Given the description of an element on the screen output the (x, y) to click on. 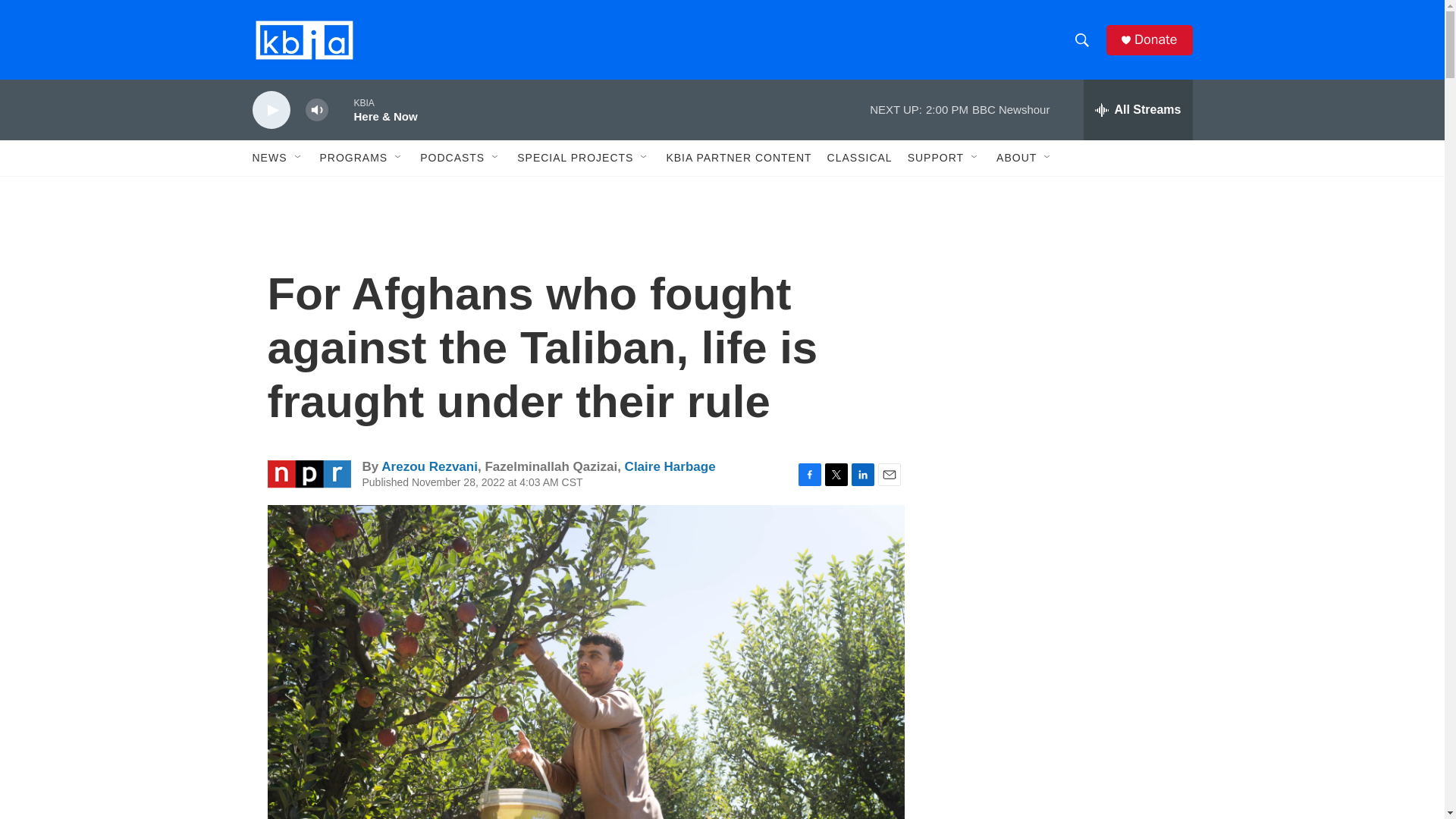
3rd party ad content (1062, 316)
3rd party ad content (1062, 740)
3rd party ad content (1062, 536)
